Given the description of an element on the screen output the (x, y) to click on. 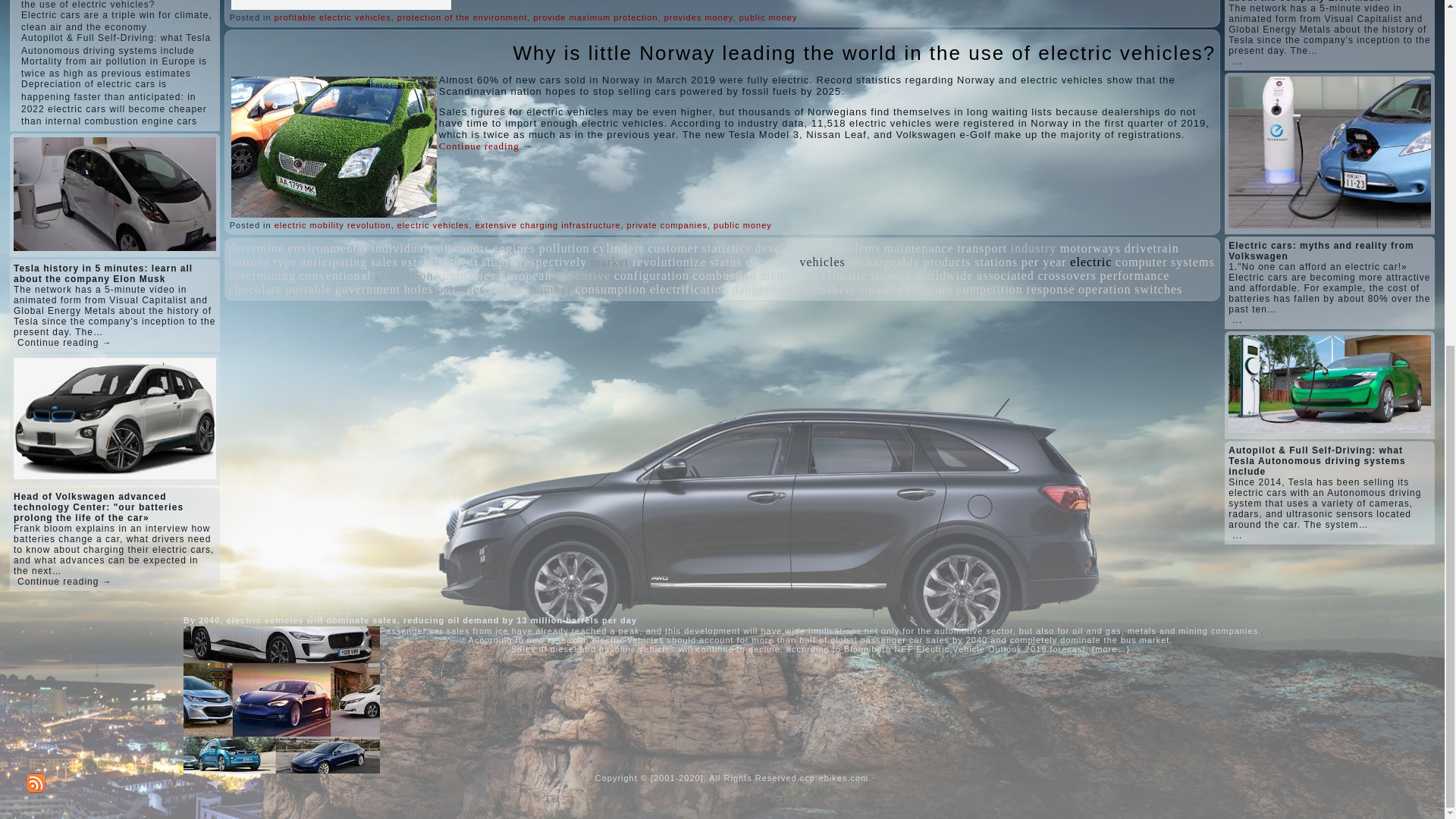
profitable electric vehicles (333, 17)
protection of the environment (462, 17)
public money (768, 17)
provide maximum protection (595, 17)
